Given the description of an element on the screen output the (x, y) to click on. 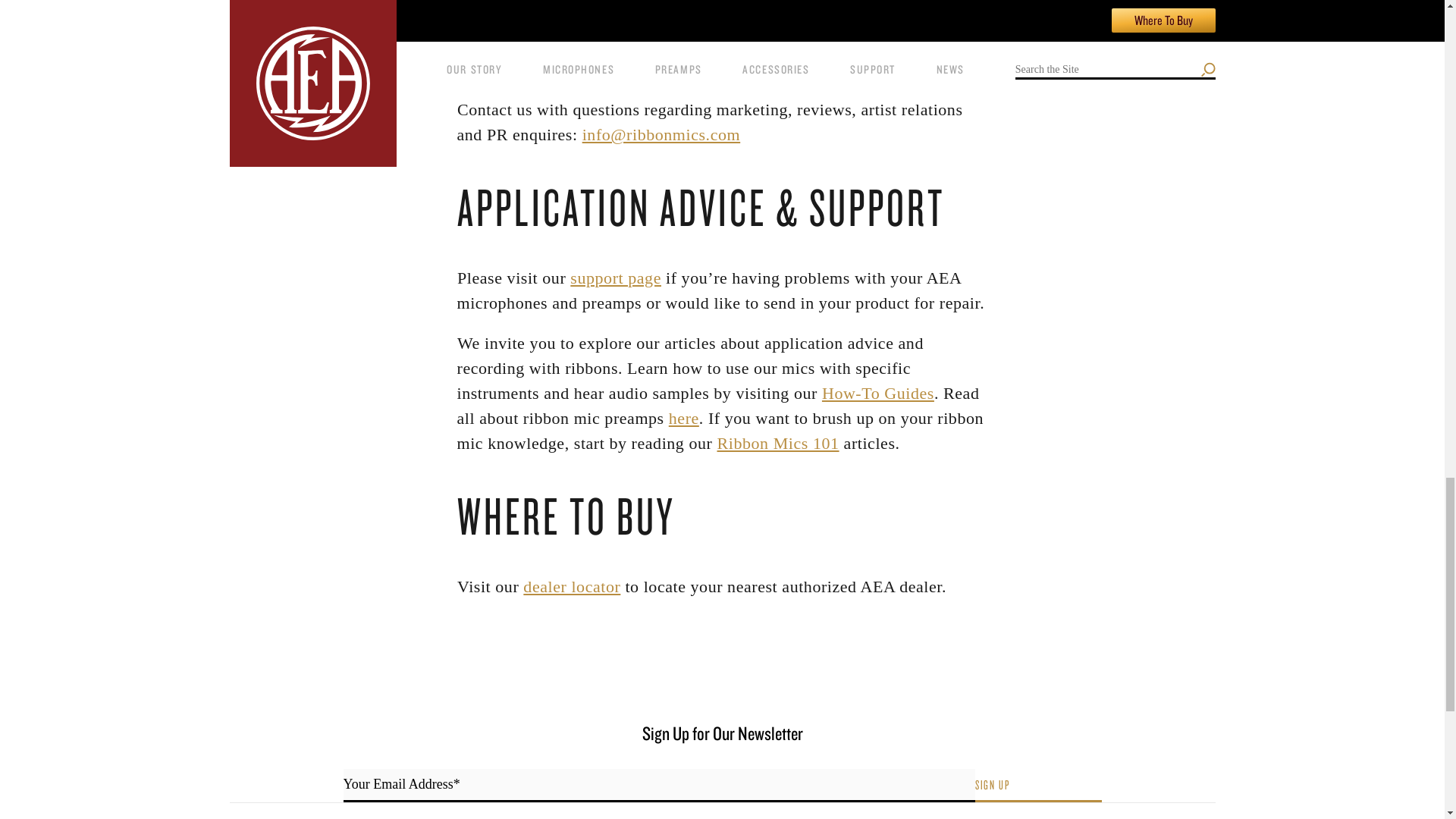
Sign Up (1038, 785)
